Given the description of an element on the screen output the (x, y) to click on. 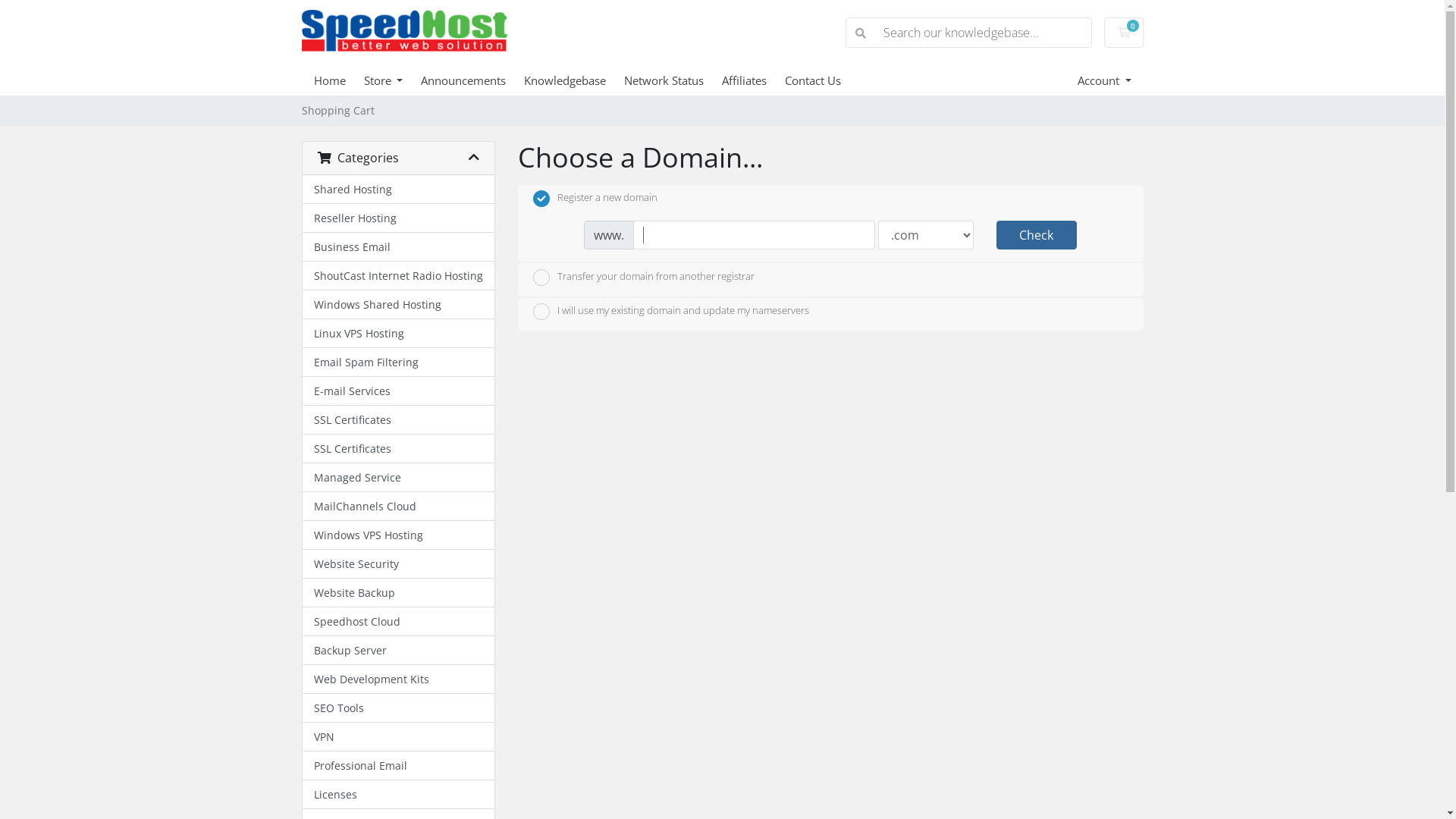
Speedhost Cloud Element type: text (397, 621)
Web Development Kits Element type: text (397, 679)
MailChannels Cloud Element type: text (397, 506)
0
Shopping Cart Element type: text (1123, 32)
Contact Us Element type: text (821, 79)
Managed Service Element type: text (397, 477)
Please enter your domain Element type: hover (754, 234)
ShoutCast Internet Radio Hosting Element type: text (397, 275)
Business Email Element type: text (397, 246)
Backup Server Element type: text (397, 650)
Reseller Hosting Element type: text (397, 217)
Account Element type: text (1104, 79)
Home Element type: text (338, 79)
SSL Certificates Element type: text (397, 419)
Linux VPS Hosting Element type: text (397, 333)
Website Backup Element type: text (397, 592)
SSL Certificates Element type: text (397, 448)
SEO Tools Element type: text (397, 707)
Windows Shared Hosting Element type: text (397, 304)
Shared Hosting Element type: text (397, 189)
Store Element type: text (392, 79)
Email Spam Filtering Element type: text (397, 362)
E-mail Services Element type: text (397, 390)
Network Status Element type: text (672, 79)
Knowledgebase Element type: text (574, 79)
Licenses Element type: text (397, 794)
Website Security Element type: text (397, 563)
Announcements Element type: text (472, 79)
Windows VPS Hosting Element type: text (397, 534)
Professional Email Element type: text (397, 765)
Check Element type: text (1036, 234)
VPN Element type: text (397, 736)
Affiliates Element type: text (752, 79)
